Given the description of an element on the screen output the (x, y) to click on. 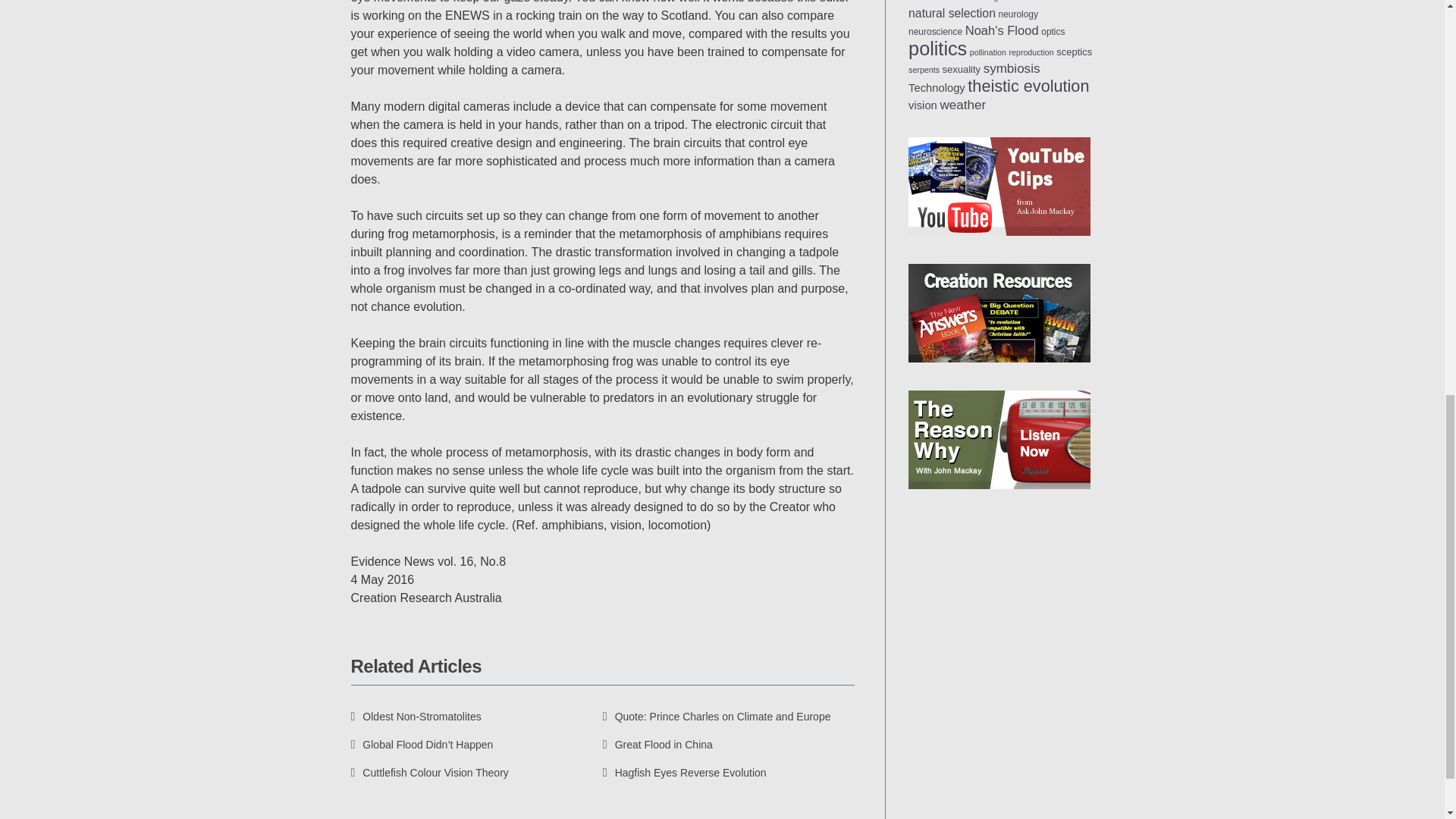
Hagfish Eyes Reverse Evolution (684, 772)
Oldest Non-Stromatolites (415, 716)
Quote: Prince Charles on Climate and Europe (716, 716)
Hagfish Eyes Reverse Evolution (684, 772)
Oldest Non-Stromatolites (415, 716)
Great Flood in China (657, 744)
Quote: Prince Charles on Climate and Europe (716, 716)
Great Flood in China (657, 744)
Cuttlefish Colour Vision Theory (429, 772)
Cuttlefish Colour Vision Theory (429, 772)
